Given the description of an element on the screen output the (x, y) to click on. 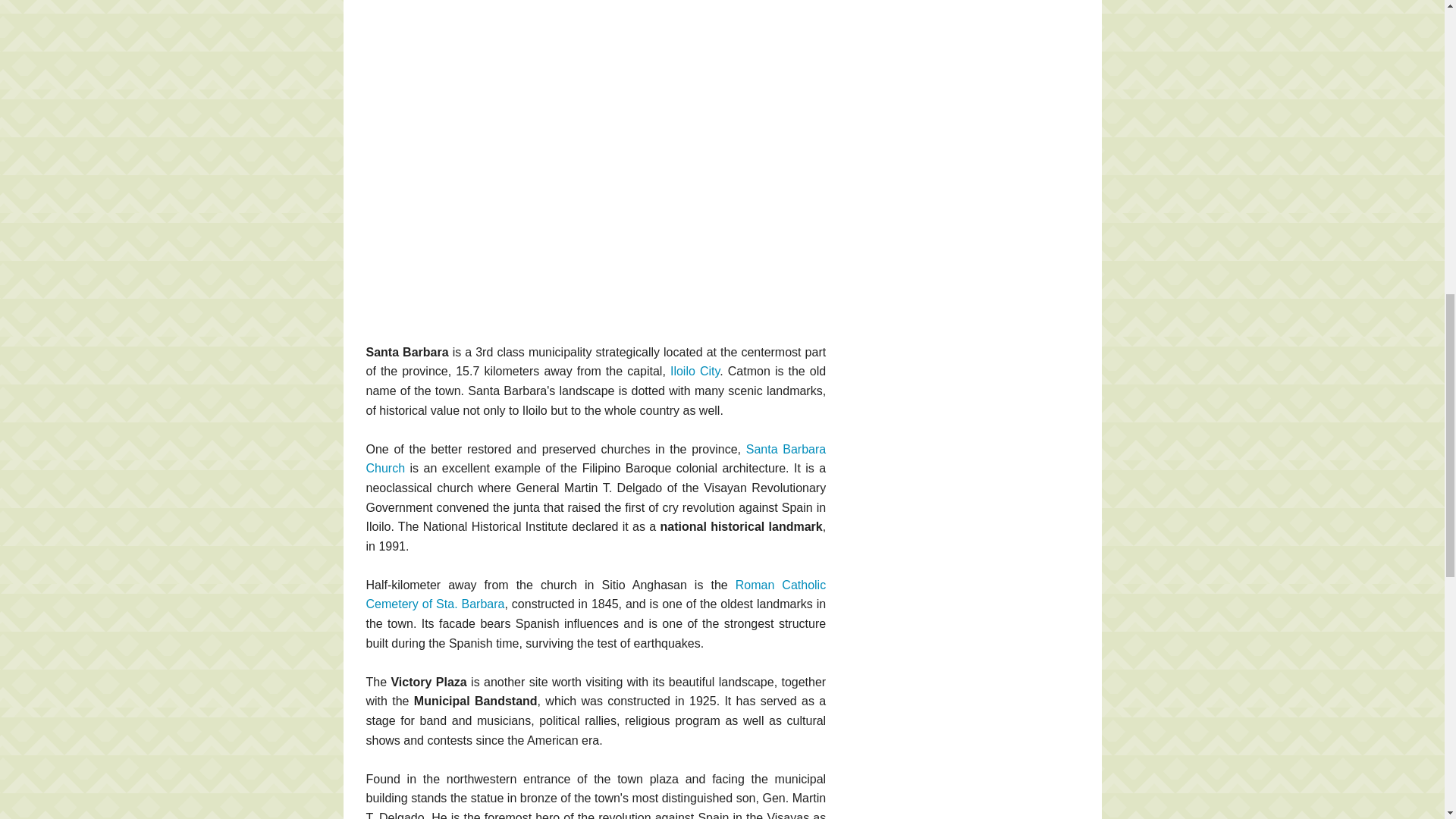
of Sta. Barbara (462, 603)
Santa Barbara Church (595, 459)
Iloilo City (694, 370)
Roman Catholic Cemetery (595, 594)
